Given the description of an element on the screen output the (x, y) to click on. 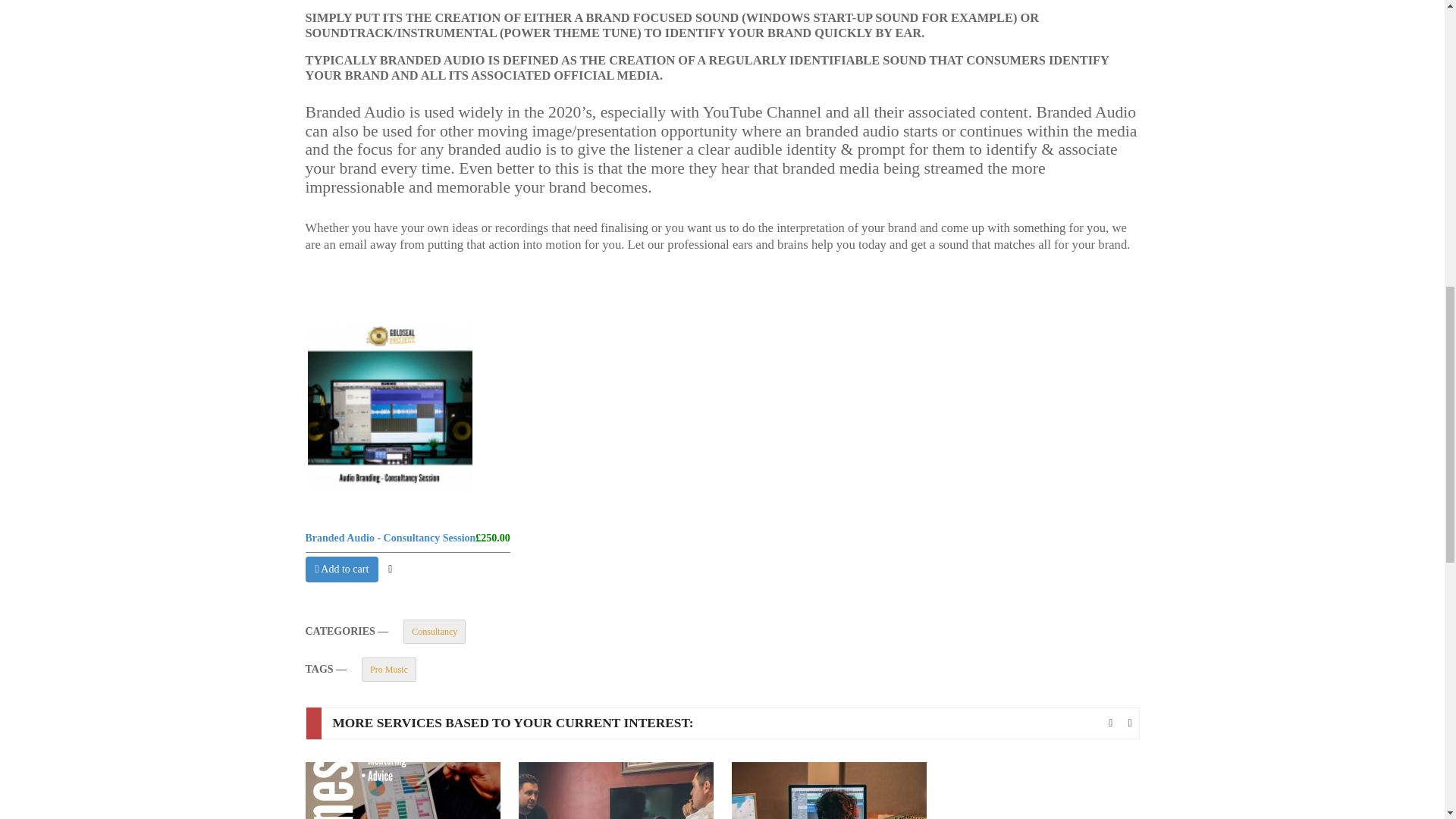
Branded Audio - Consultancy Session (390, 537)
Pro Music (388, 669)
Add to cart (341, 569)
Consultancy (434, 631)
